Given the description of an element on the screen output the (x, y) to click on. 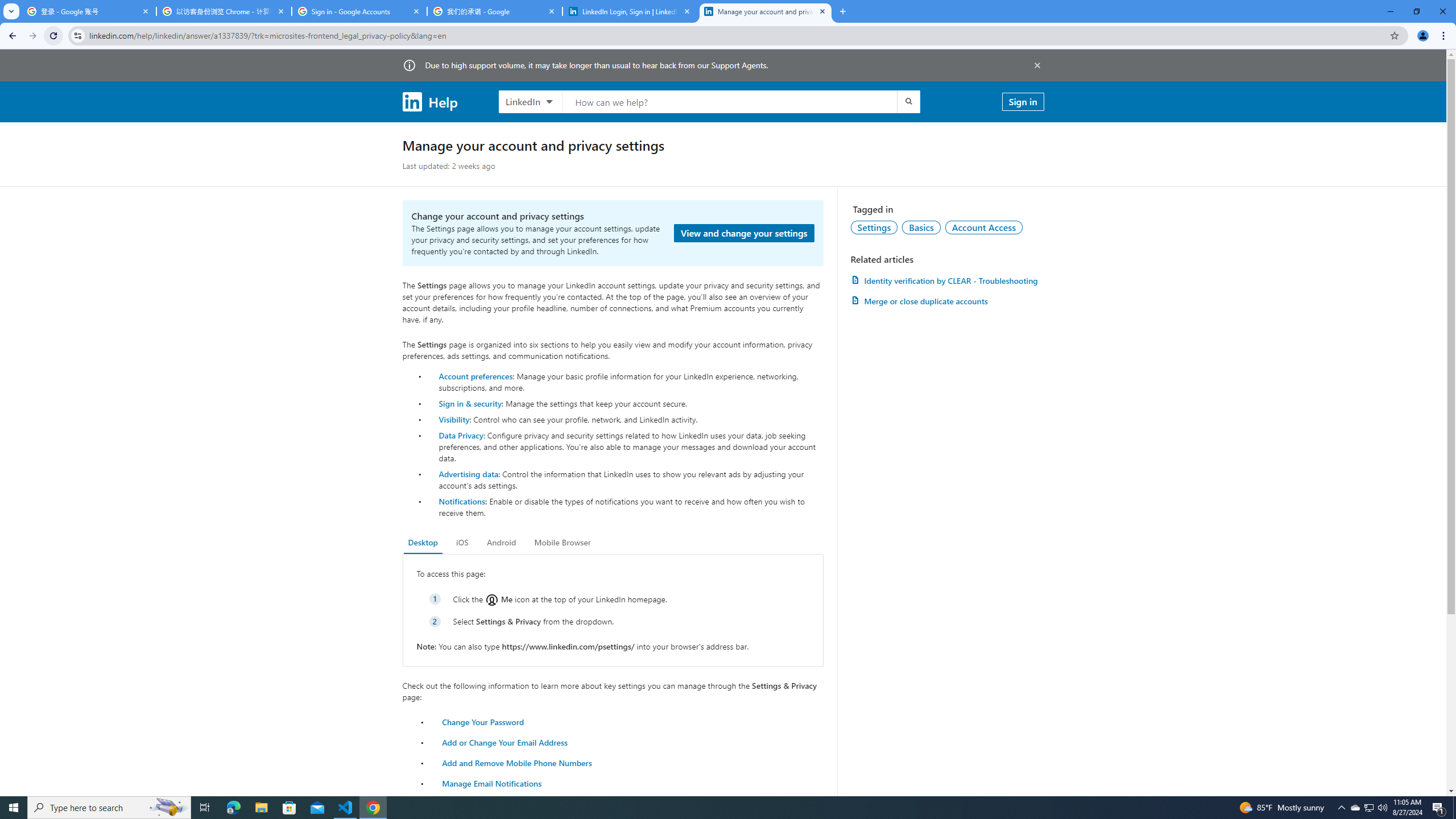
Add and Remove Mobile Phone Numbers (517, 762)
Manage your account and privacy settings | LinkedIn Help (765, 11)
Mobile Browser (562, 542)
LinkedIn products to search, LinkedIn selected (530, 101)
Sign in & security (470, 402)
Account Access (983, 227)
Sign in - Google Accounts (359, 11)
Change Your Password (483, 721)
AutomationID: topic-link-a51 (921, 227)
Merge or close duplicate accounts (946, 300)
Basics (921, 227)
